Given the description of an element on the screen output the (x, y) to click on. 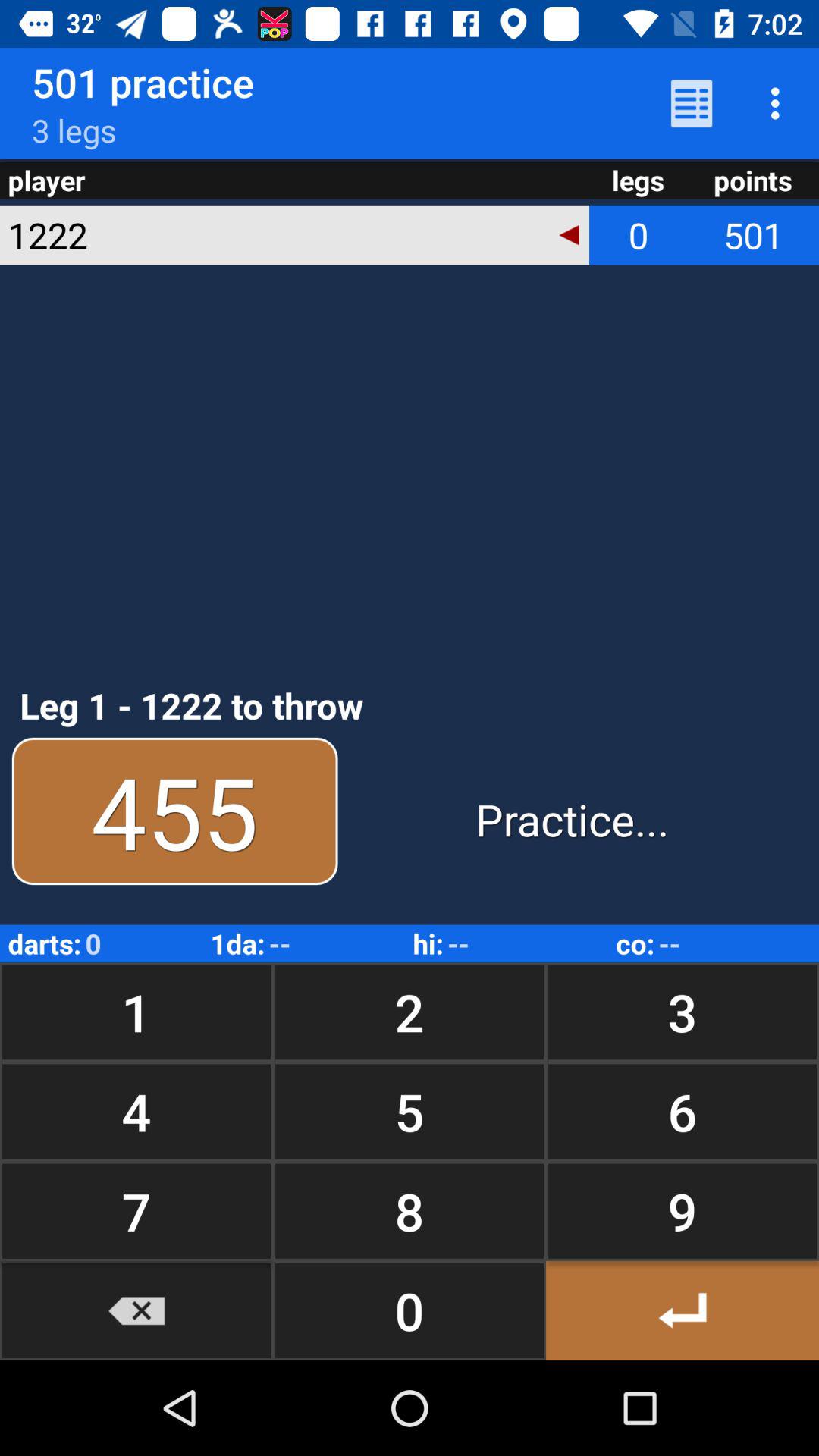
open the icon above legs app (691, 103)
